Given the description of an element on the screen output the (x, y) to click on. 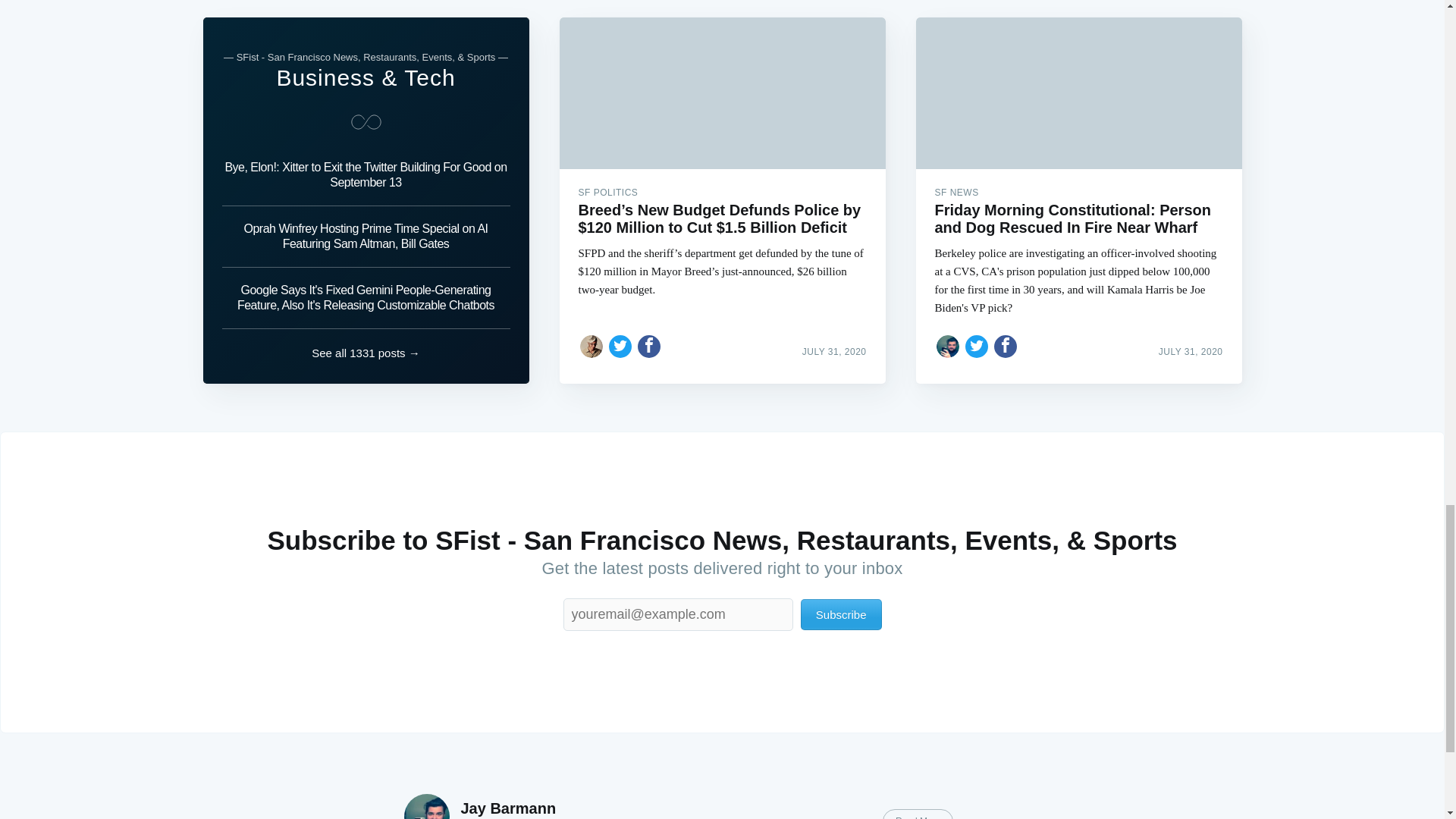
Share on Facebook (1004, 346)
Subscribe (841, 613)
Share on Twitter (620, 346)
Share on Twitter (976, 346)
Jay Barmann (508, 808)
Share on Facebook (649, 346)
